Given the description of an element on the screen output the (x, y) to click on. 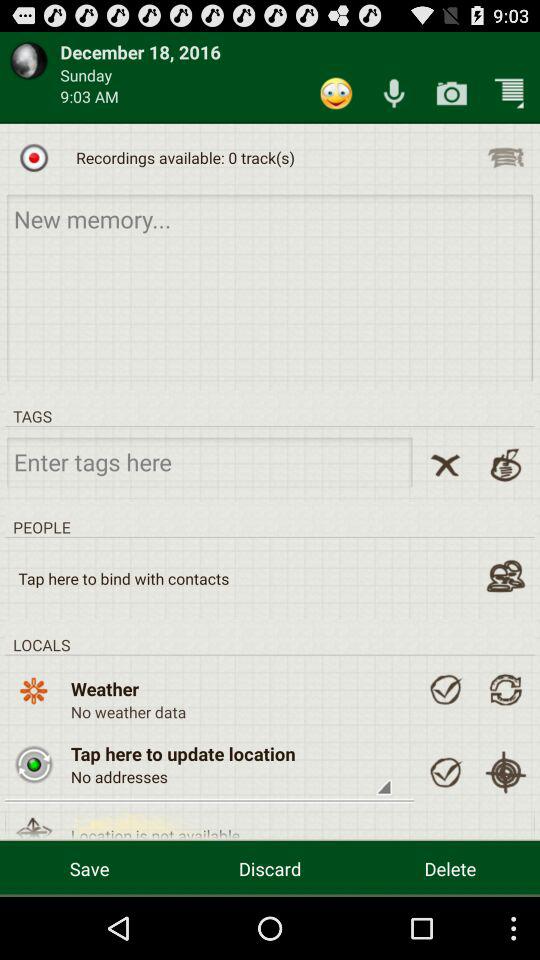
go to close (445, 464)
